Given the description of an element on the screen output the (x, y) to click on. 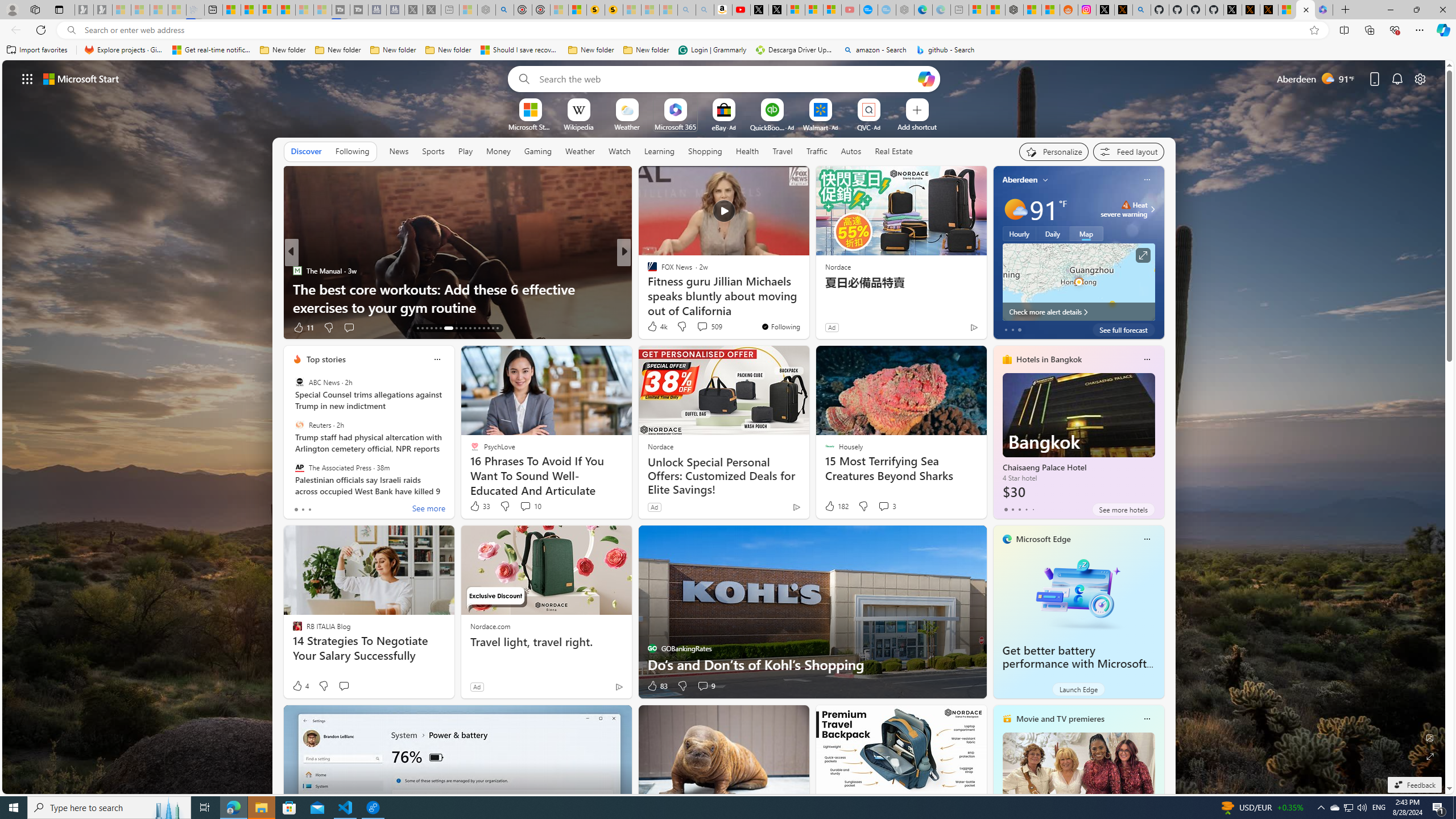
Daily (1052, 233)
help.x.com | 524: A timeout occurred (1123, 9)
Opinion: Op-Ed and Commentary - USA TODAY (868, 9)
Microsoft start (81, 78)
AutomationID: backgroundImagePicture (723, 426)
Money (497, 151)
Get better battery performance with Microsoft Edge (1074, 664)
292 Like (654, 327)
33 Like (479, 505)
